Given the description of an element on the screen output the (x, y) to click on. 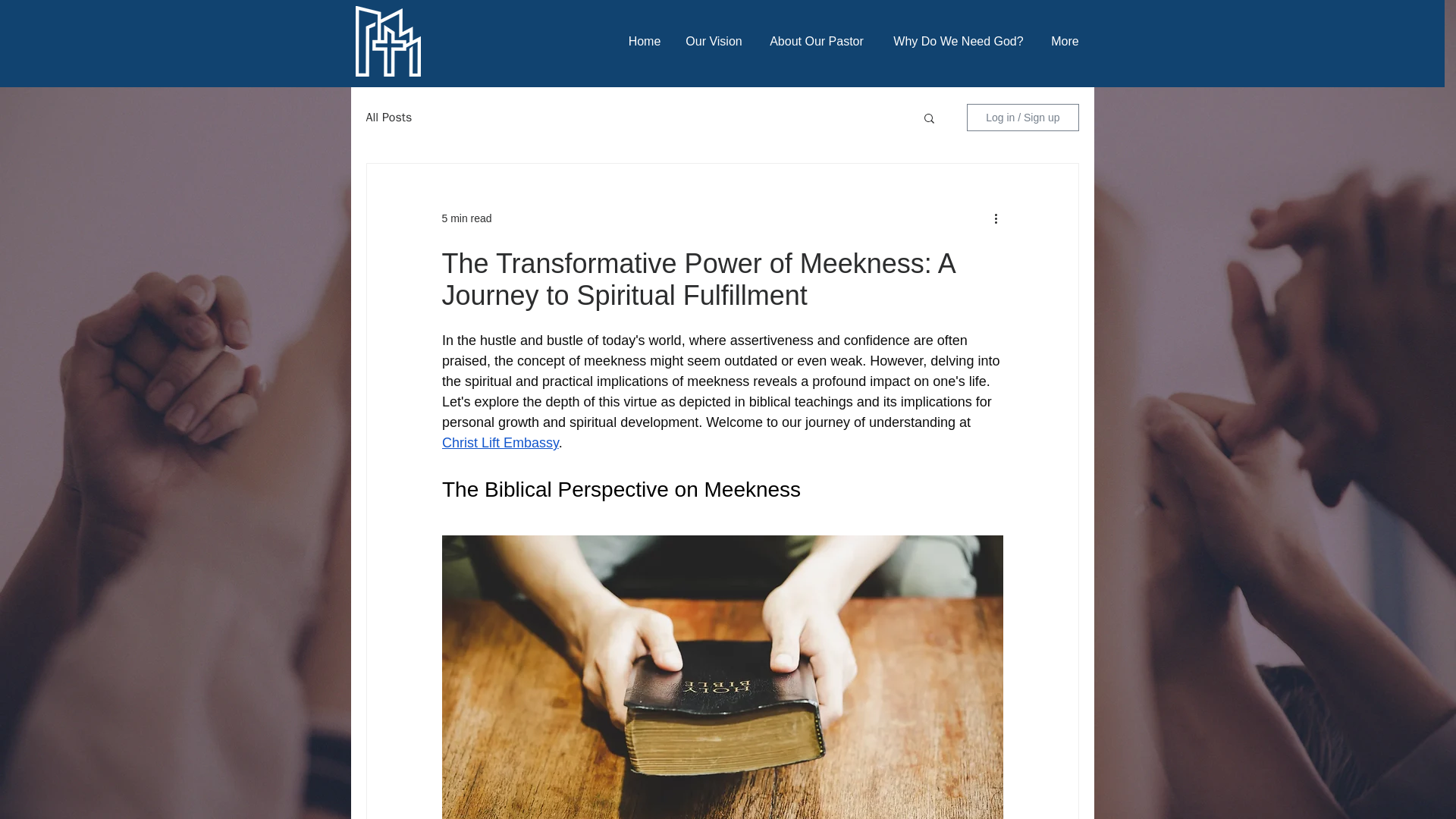
All Posts (388, 116)
Why Do We Need God? (957, 41)
About Our Pastor (817, 41)
Our Vision (713, 41)
5 min read (466, 218)
Christ Lift Embassy (499, 442)
Home (643, 41)
